Given the description of an element on the screen output the (x, y) to click on. 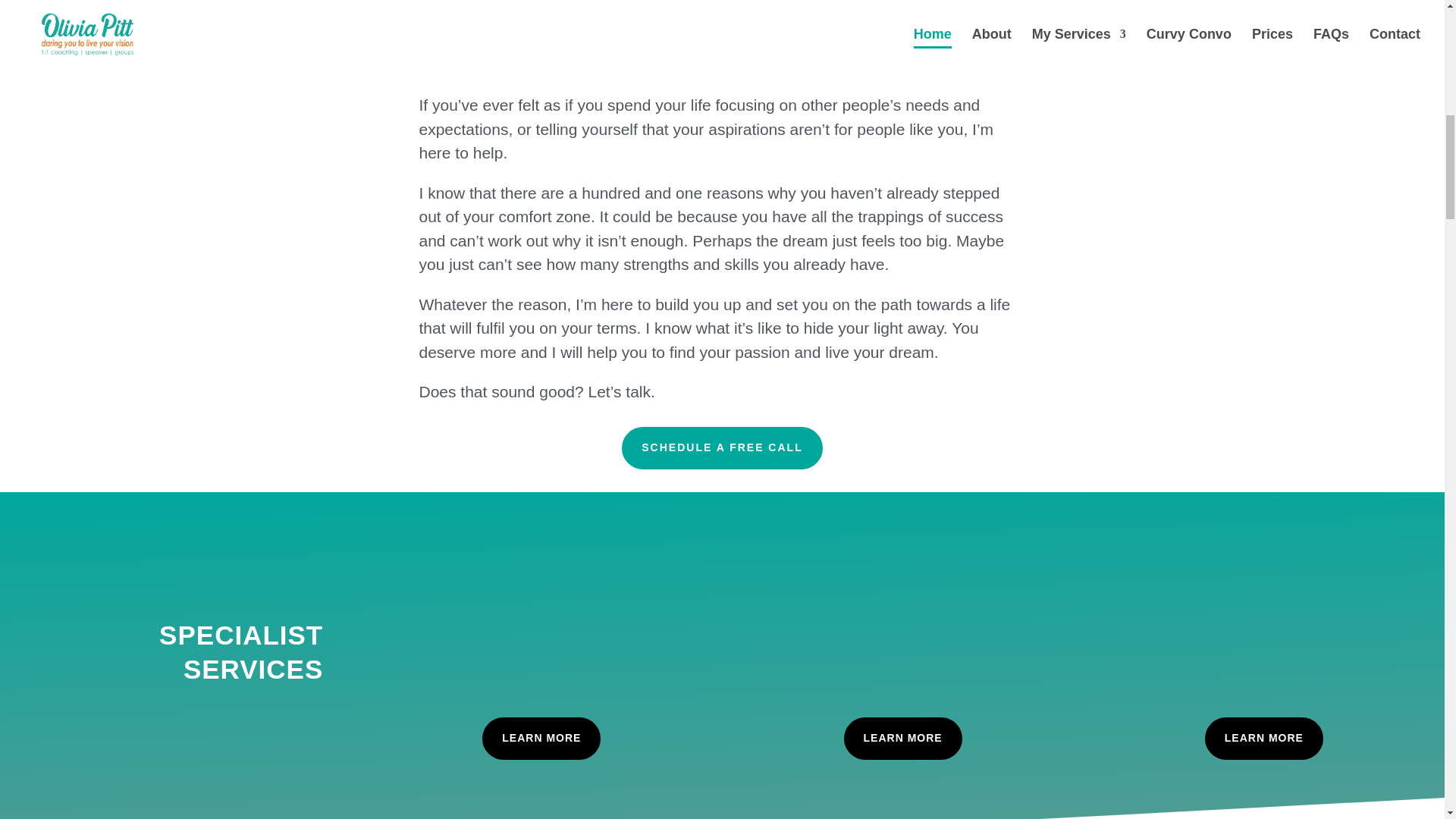
LEARN MORE (1264, 738)
SCHEDULE A FREE CALL (721, 447)
LEARN MORE (540, 738)
LEARN MORE (903, 738)
